Given the description of an element on the screen output the (x, y) to click on. 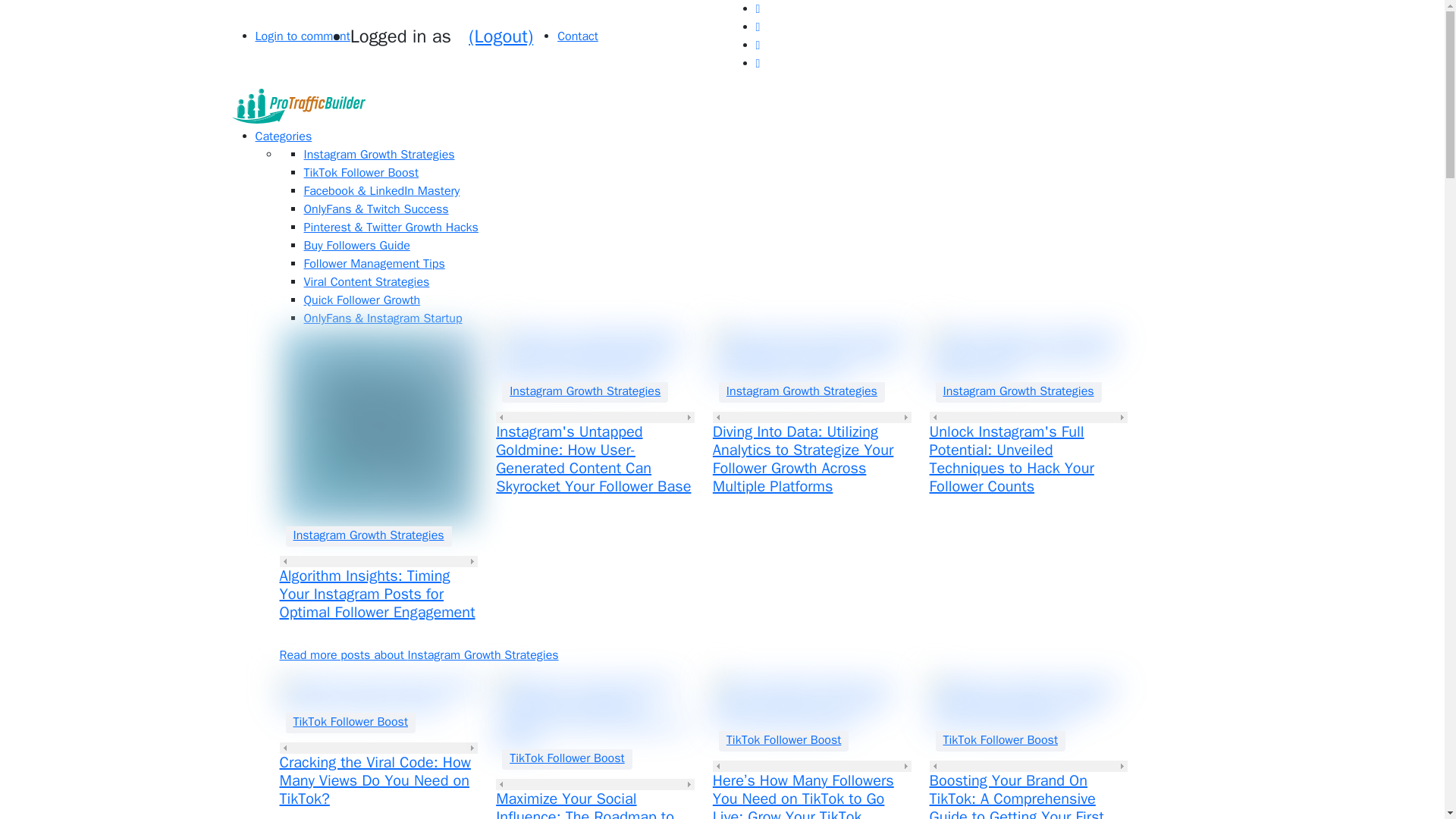
Login to comment (301, 36)
Buy Followers Guide (355, 245)
Viral Content Strategies (365, 281)
Quick Follower Growth (361, 299)
TikTok Follower Boost (783, 739)
Instagram Growth Strategies (368, 535)
Read more posts about Instagram Growth Strategies (418, 654)
